Given the description of an element on the screen output the (x, y) to click on. 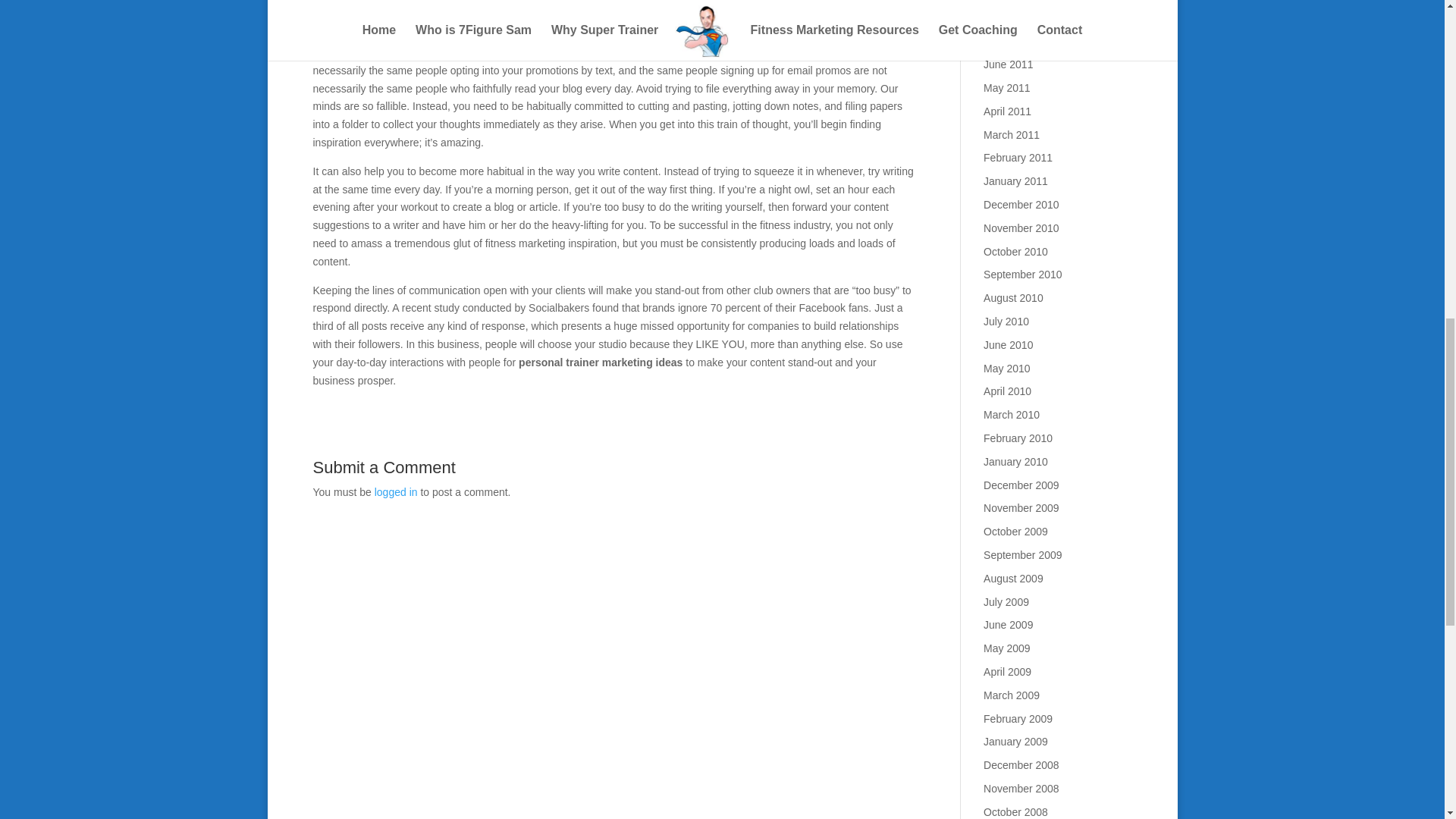
logged in (395, 491)
